Given the description of an element on the screen output the (x, y) to click on. 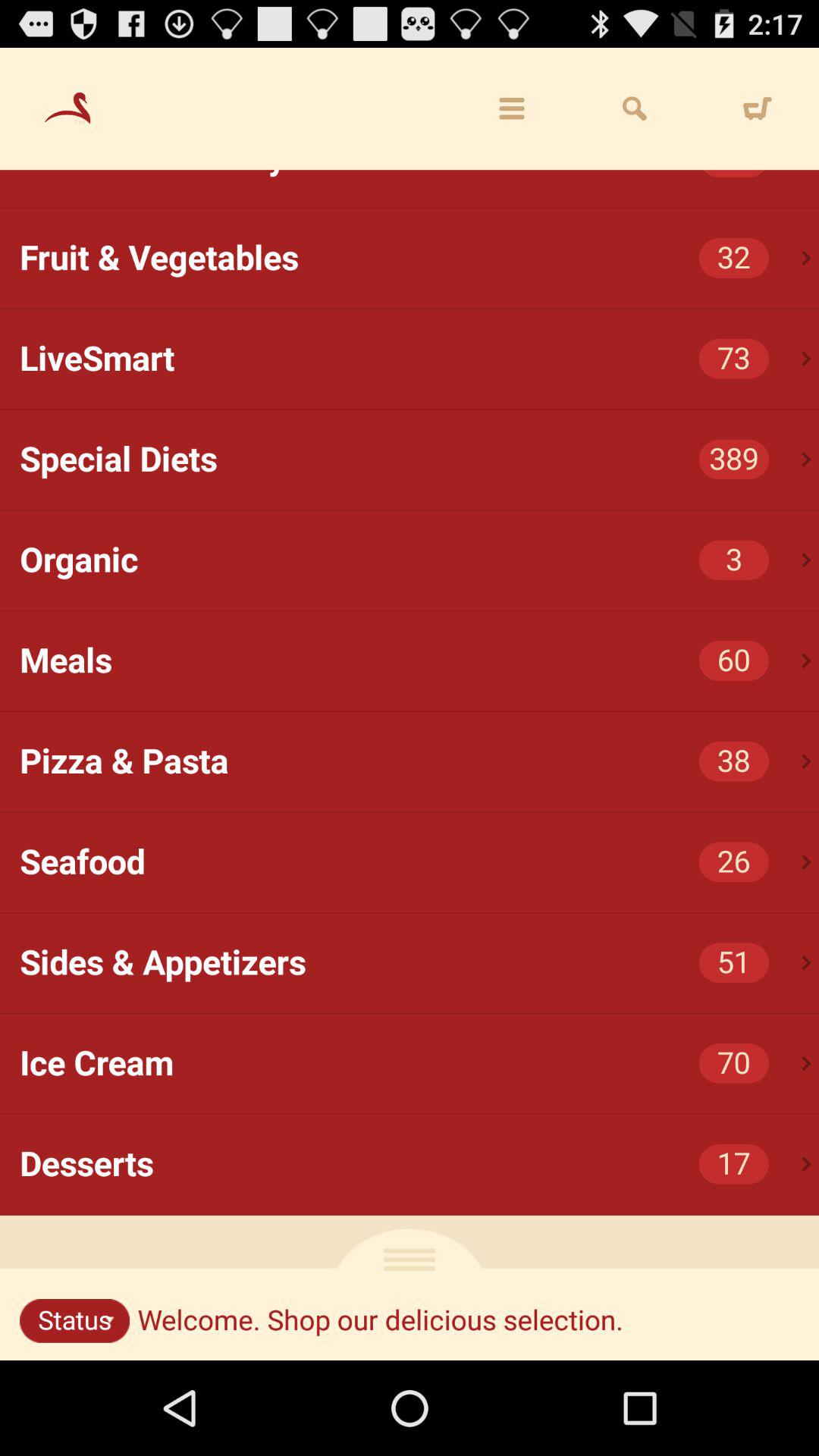
launch organic icon (419, 560)
